Given the description of an element on the screen output the (x, y) to click on. 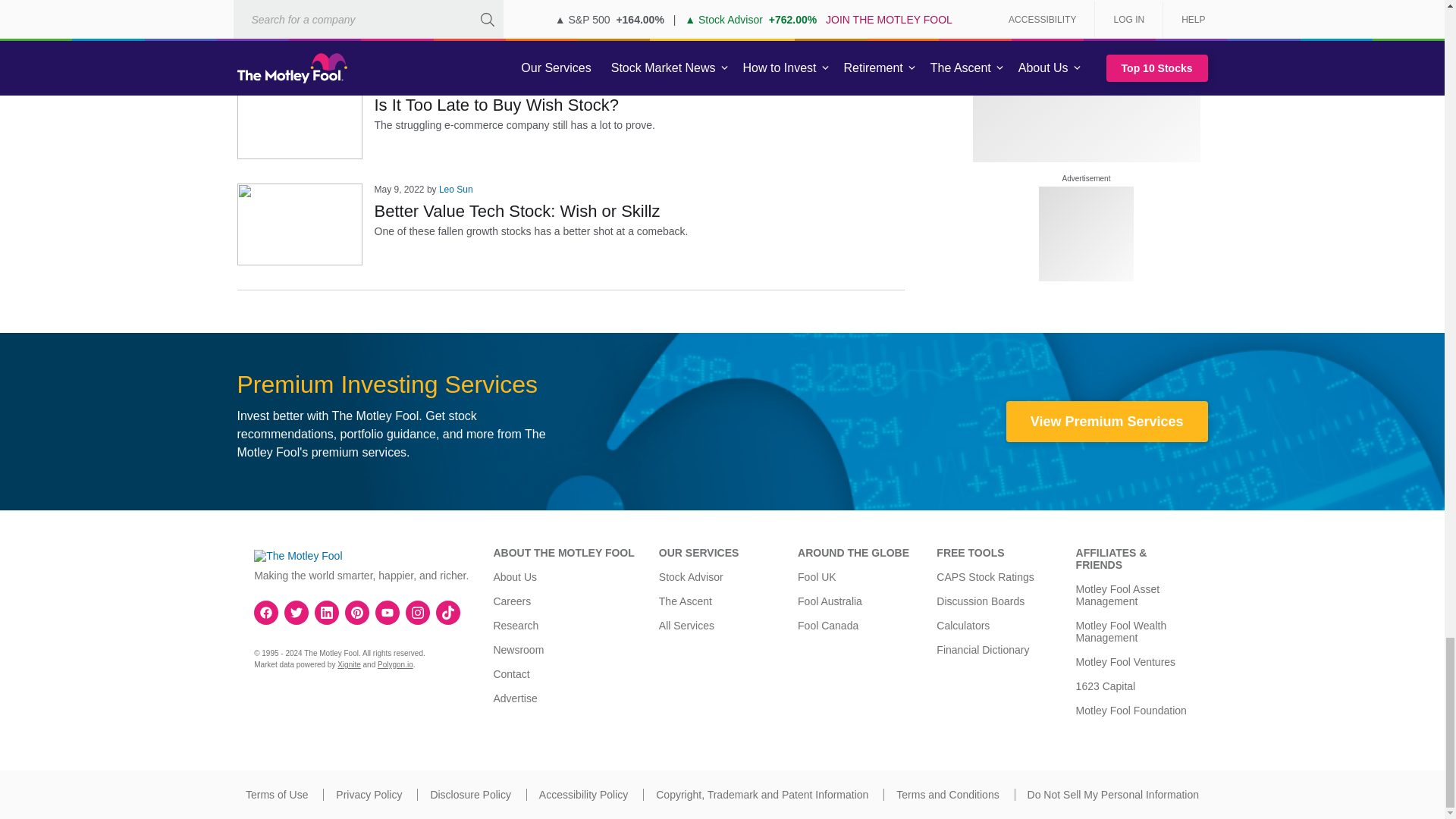
Disclosure Policy (470, 794)
Terms and Conditions (947, 794)
Do Not Sell My Personal Information. (1112, 794)
Copyright, Trademark and Patent Information (761, 794)
Privacy Policy (368, 794)
Terms of Use (276, 794)
Accessibility Policy (582, 794)
